Given the description of an element on the screen output the (x, y) to click on. 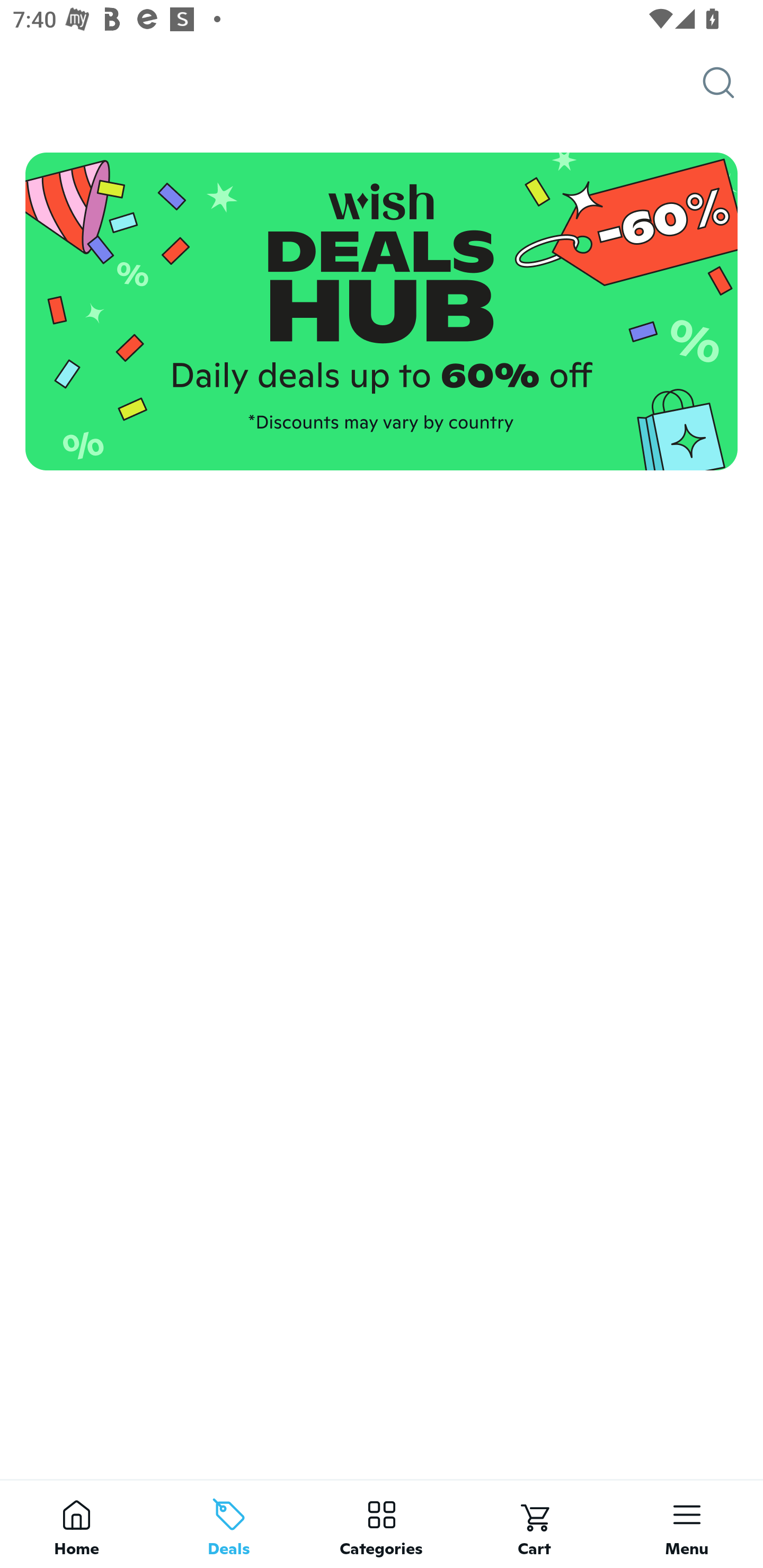
Search (732, 82)
Home (76, 1523)
Deals (228, 1523)
Categories (381, 1523)
Cart (533, 1523)
Menu (686, 1523)
